Given the description of an element on the screen output the (x, y) to click on. 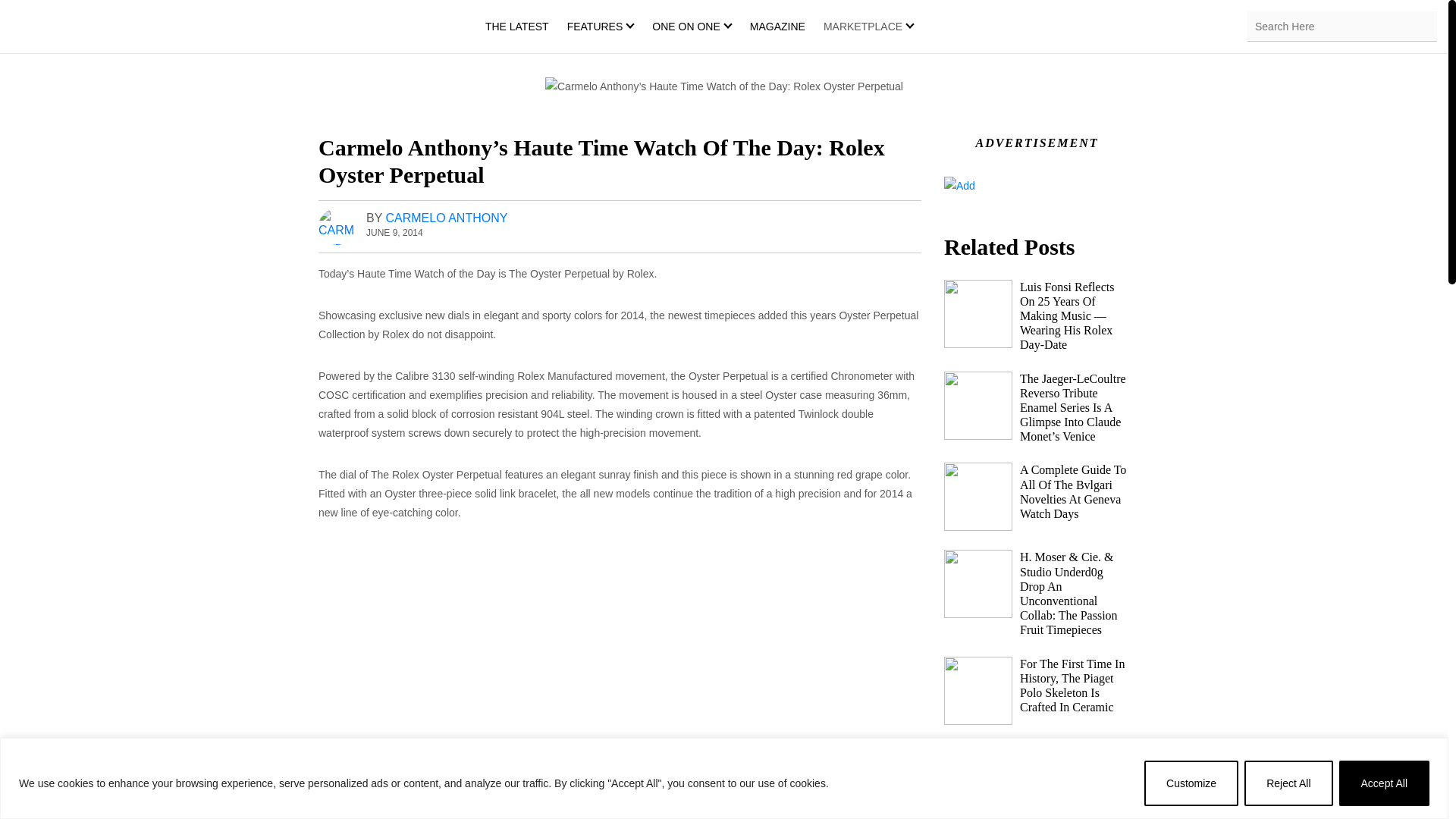
Accept All (1384, 782)
FEATURES (595, 26)
THE LATEST (516, 26)
Customize (1191, 782)
Reject All (1288, 782)
ONE ON ONE (685, 26)
